Given the description of an element on the screen output the (x, y) to click on. 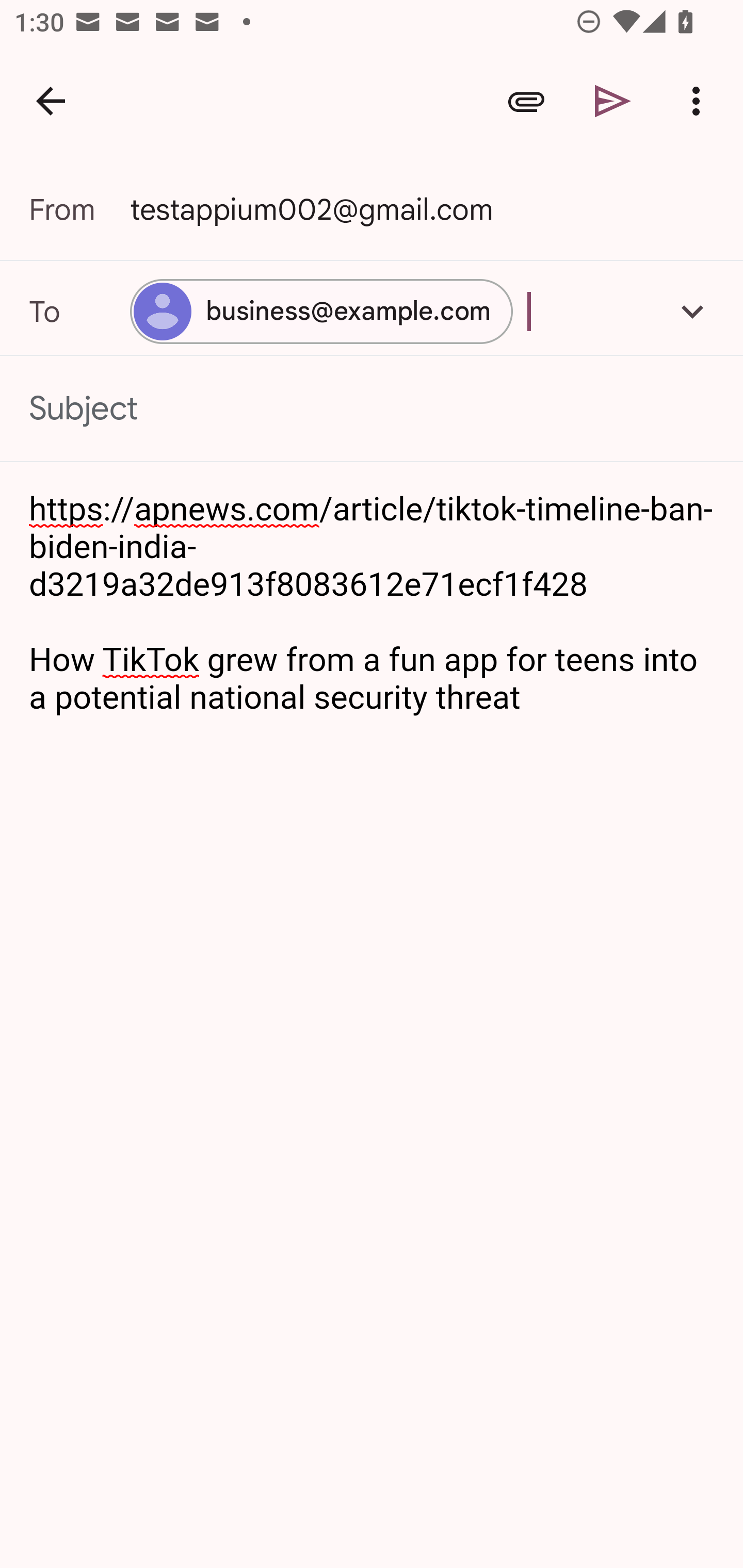
Navigate up (50, 101)
Attach file (525, 101)
Send (612, 101)
More options (699, 101)
From (79, 209)
Add Cc/Bcc (692, 311)
Subject (371, 407)
